Given the description of an element on the screen output the (x, y) to click on. 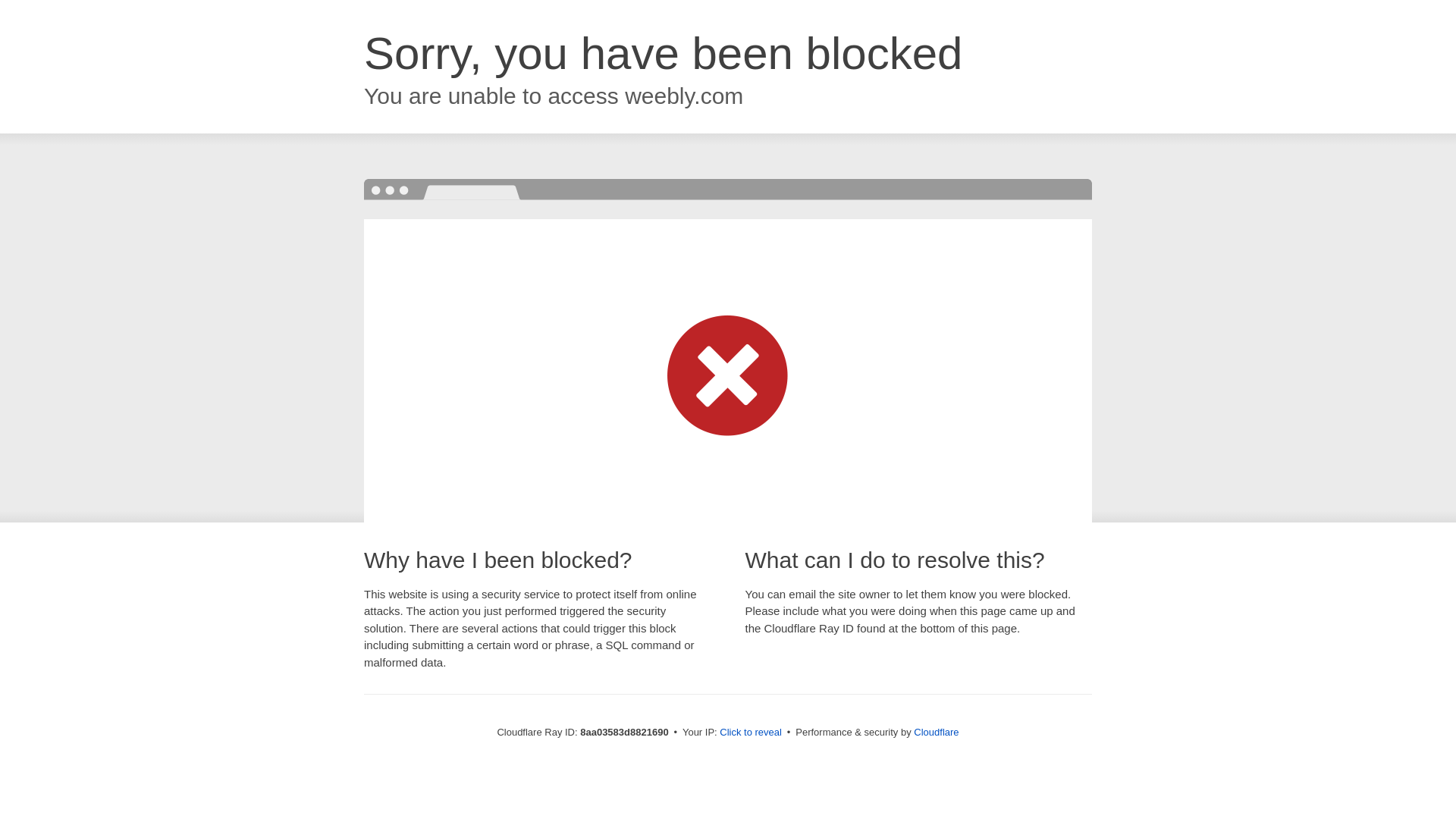
Click to reveal (750, 732)
Cloudflare (936, 731)
